Given the description of an element on the screen output the (x, y) to click on. 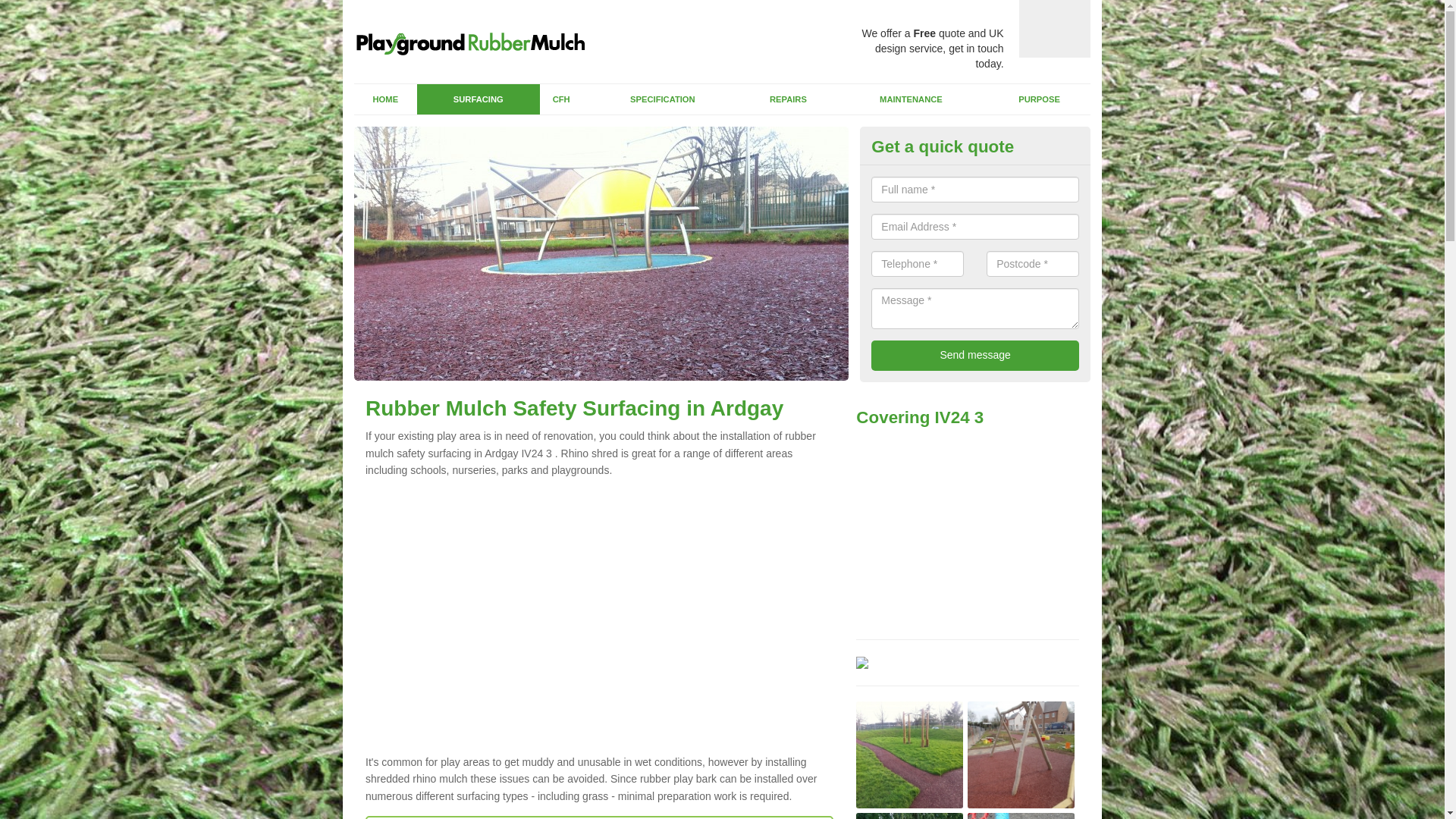
playground rubber mulch (477, 39)
MAINTENANCE (911, 99)
Rubber Mulch Safety Flooring in Ardgay 3 (909, 816)
SPECIFICATION (662, 99)
HOME (384, 99)
CFH (561, 99)
Rubber Mulch Safety Flooring in Ardgay 4 (1021, 816)
REPAIRS (787, 99)
PURPOSE (1039, 99)
Header (471, 41)
Rubber Mulch Safety Flooring in Ardgay 1 (909, 754)
SURFACING (478, 99)
